Given the description of an element on the screen output the (x, y) to click on. 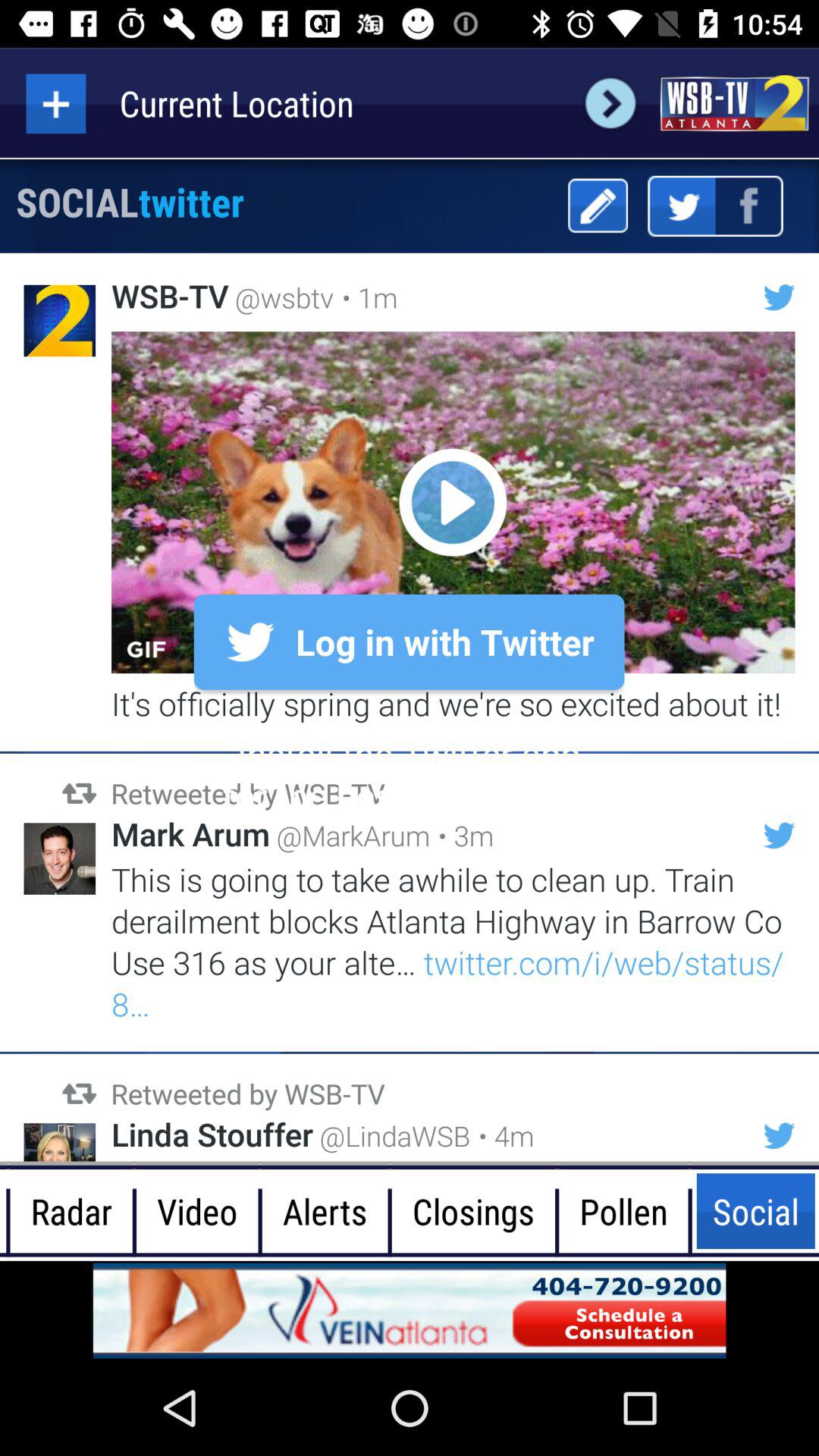
add location button (55, 103)
